Given the description of an element on the screen output the (x, y) to click on. 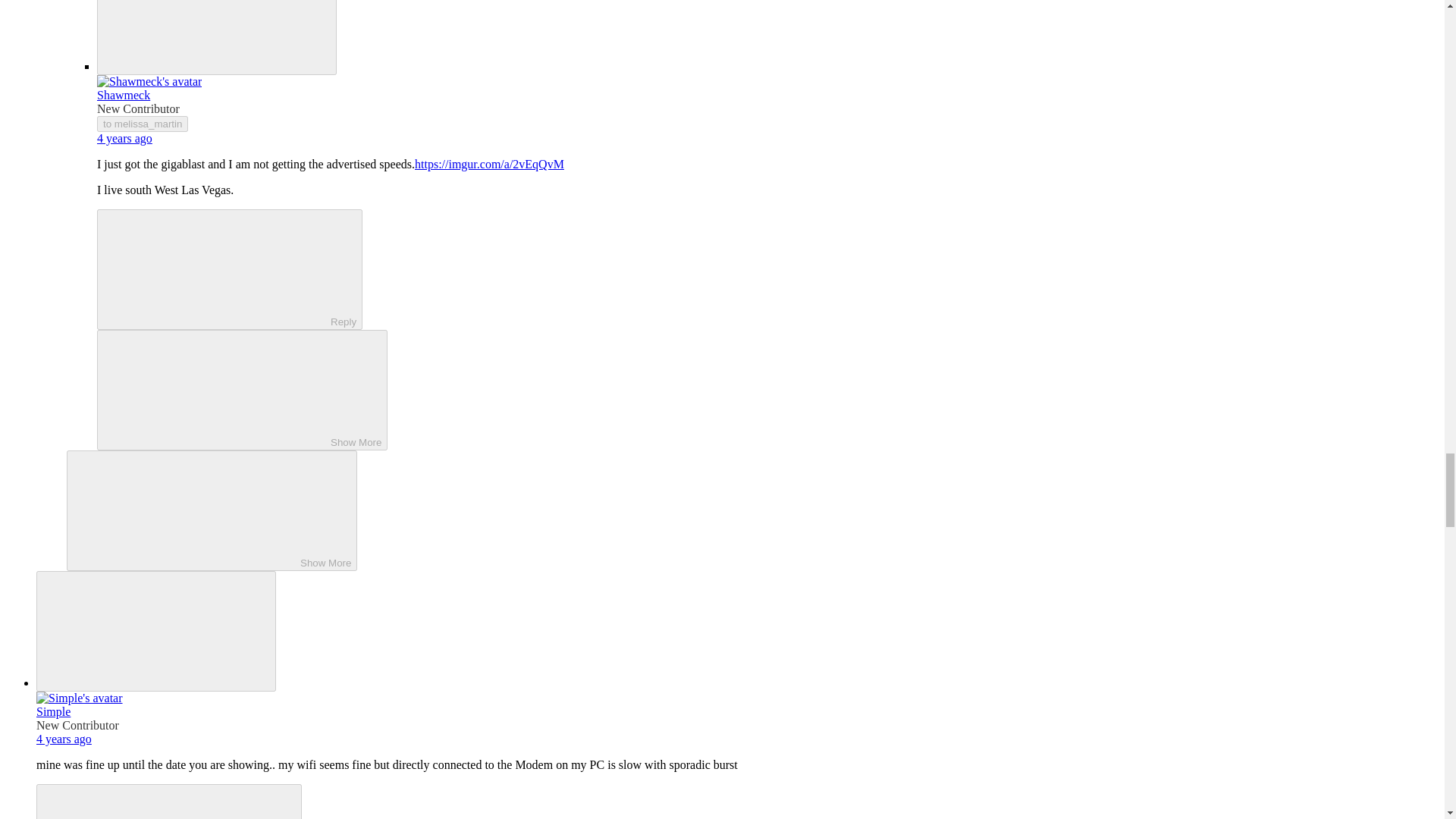
August 14, 2020 at 3:01 AM (124, 137)
August 14, 2020 at 2:33 PM (63, 738)
Show More (211, 510)
